Given the description of an element on the screen output the (x, y) to click on. 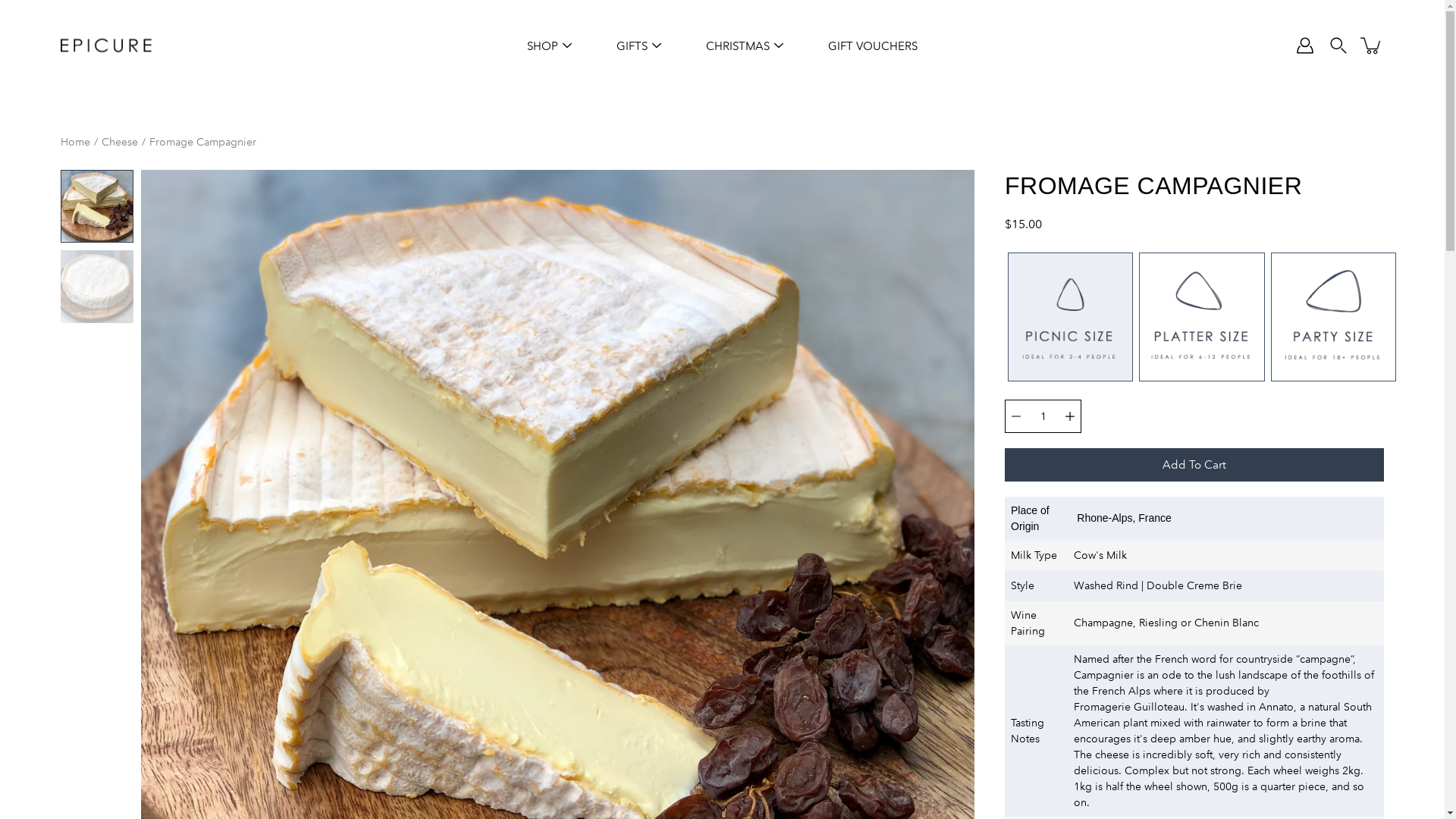
SHOP Element type: text (542, 45)
Cheese Element type: text (119, 141)
Add To Cart Element type: text (1193, 464)
Home Element type: text (75, 141)
GIFTS Element type: text (631, 45)
CHRISTMAS Element type: text (737, 45)
GIFT VOUCHERS Element type: text (872, 45)
